Given the description of an element on the screen output the (x, y) to click on. 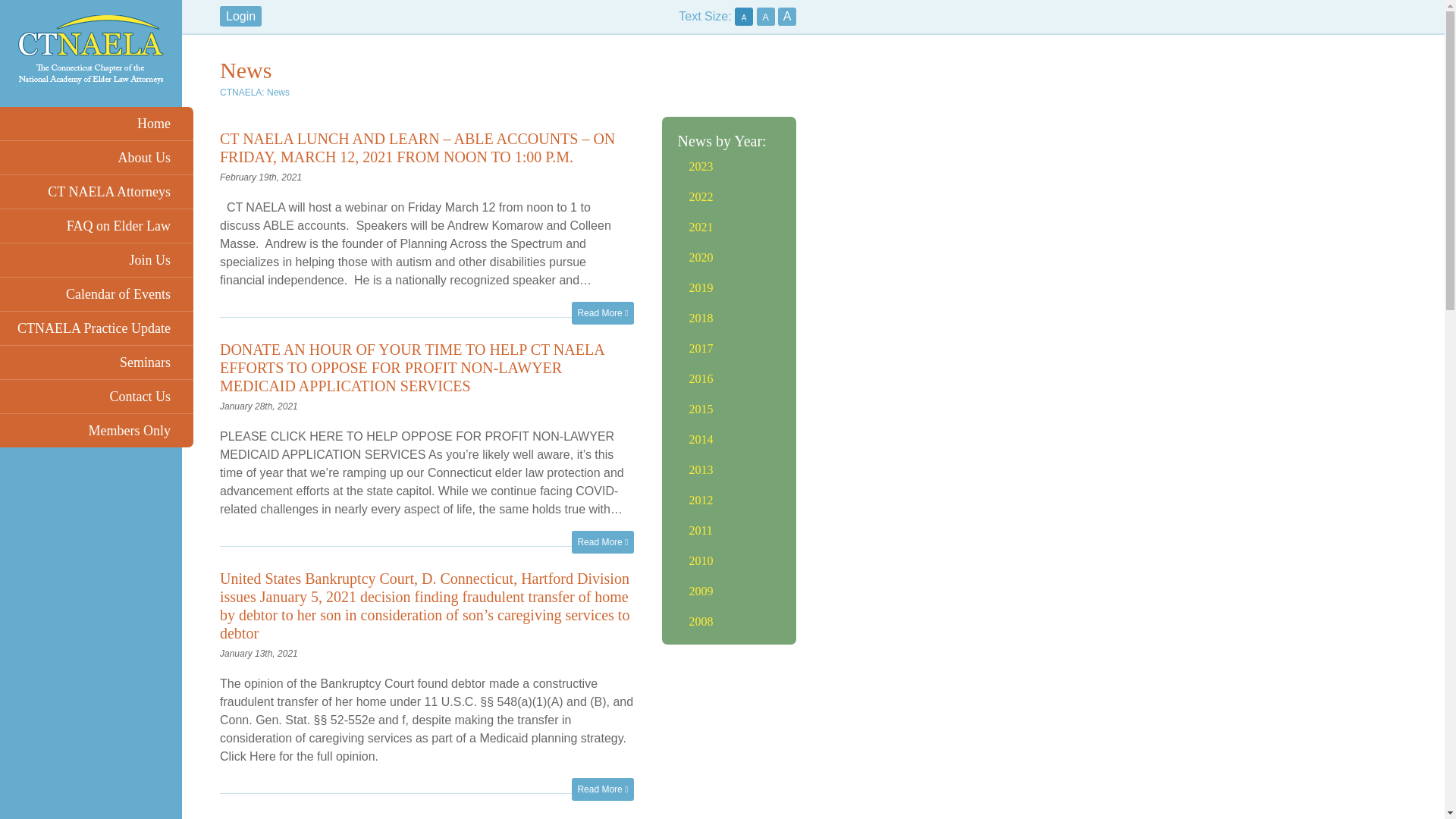
CTNAELA (240, 91)
Home (96, 123)
2015 (700, 408)
FAQ on Elder Law (96, 225)
2017 (700, 348)
2013 (700, 469)
About Us (96, 157)
CTNAELA Practice Update (96, 328)
Contact Us (96, 396)
